Given the description of an element on the screen output the (x, y) to click on. 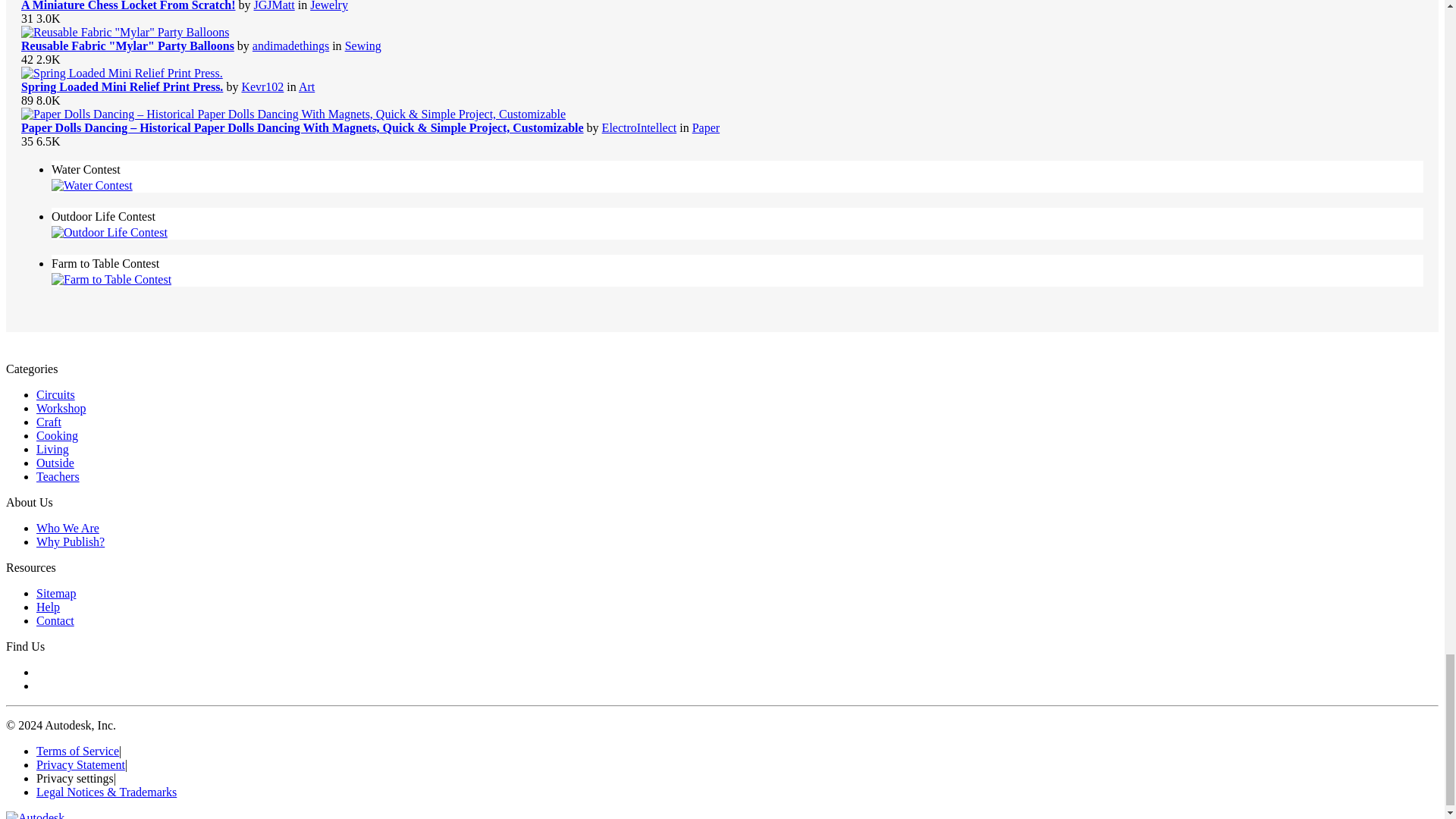
Paper (706, 127)
JGJMatt (273, 5)
Spring Loaded Mini Relief Print Press. (121, 86)
Reusable Fabric "Mylar" Party Balloons (127, 45)
Jewelry (328, 5)
Sewing (363, 45)
ElectroIntellect (639, 127)
Art (306, 86)
A Miniature Chess Locket From Scratch! (127, 5)
andimadethings (290, 45)
Kevr102 (262, 86)
